Given the description of an element on the screen output the (x, y) to click on. 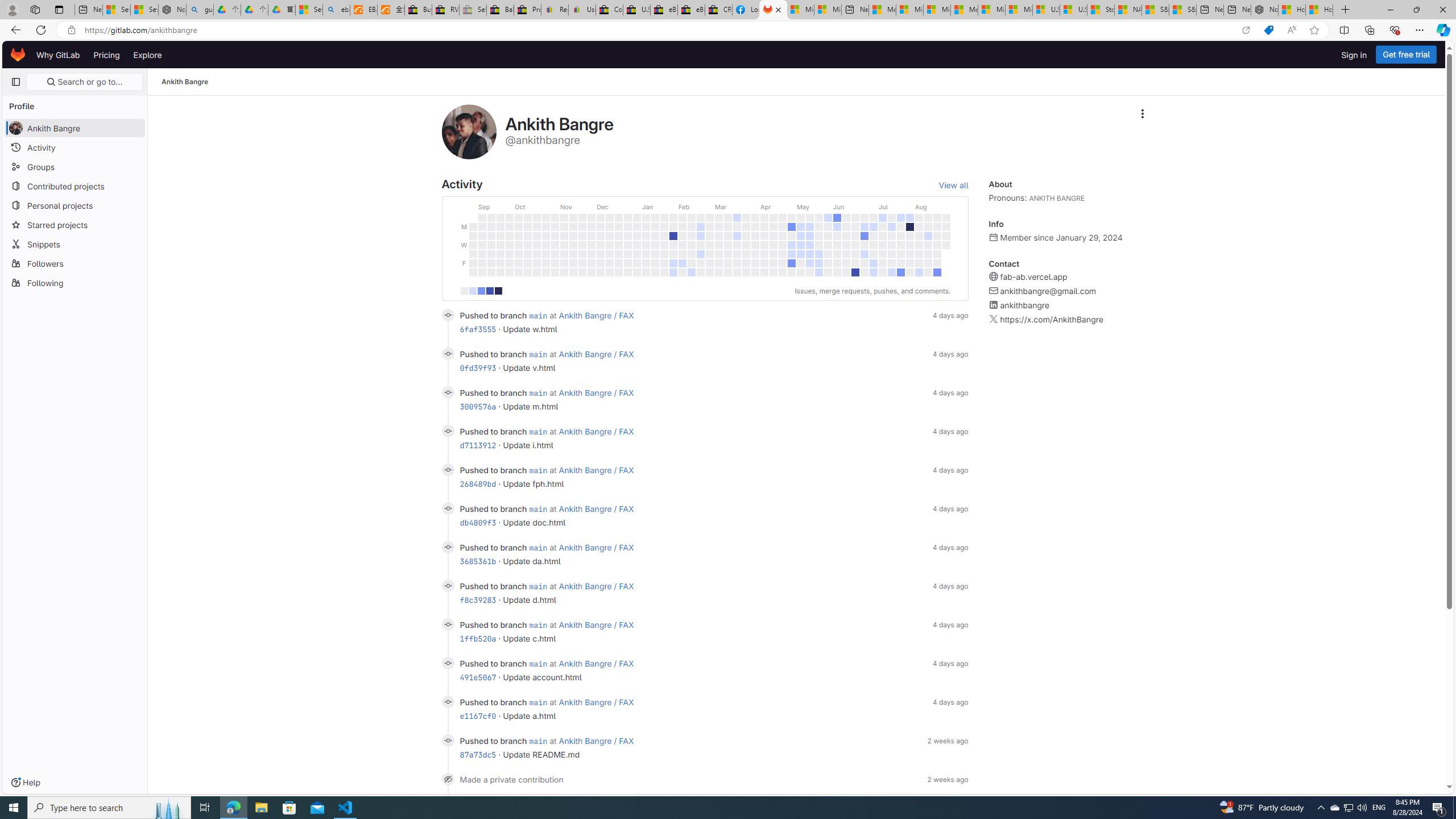
20-29 contributions (489, 290)
db4809f3 (478, 522)
Snippets (74, 244)
No contributions (463, 290)
U.S. State Privacy Disclosures - eBay Inc. (636, 9)
Activity (74, 147)
